Given the description of an element on the screen output the (x, y) to click on. 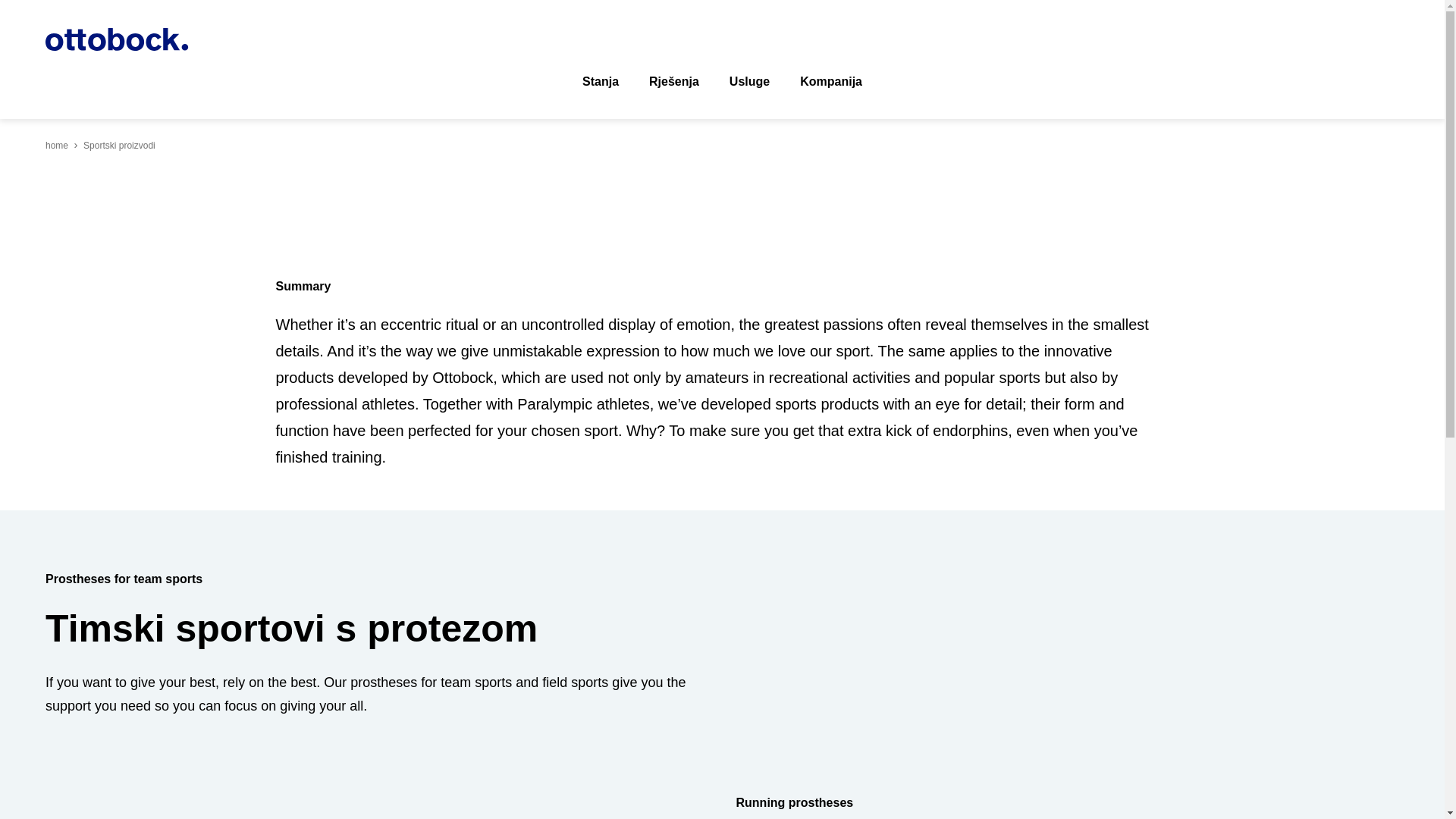
home (56, 145)
Kompanija (831, 81)
Usluge (749, 81)
Stanja (600, 81)
Usluge (749, 81)
O nama (831, 81)
Stanja (600, 81)
home (56, 145)
Ottobock (117, 38)
